Given the description of an element on the screen output the (x, y) to click on. 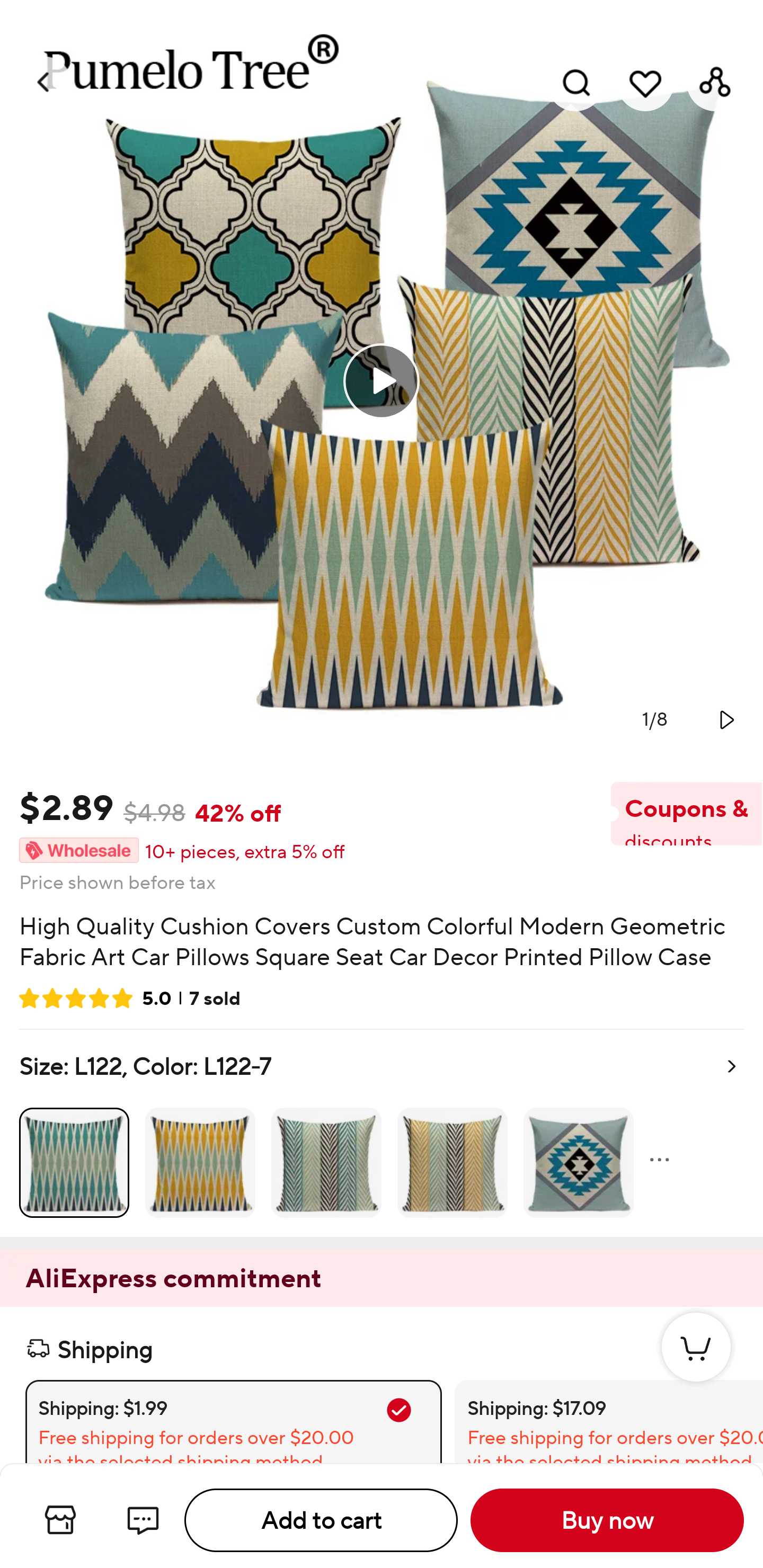
0.0 (381, 381)
Navigate up (44, 82)
 (724, 719)
Size: L122, Color: L122-7  (381, 1133)
Add to cart (320, 1520)
Buy now (606, 1520)
